Given the description of an element on the screen output the (x, y) to click on. 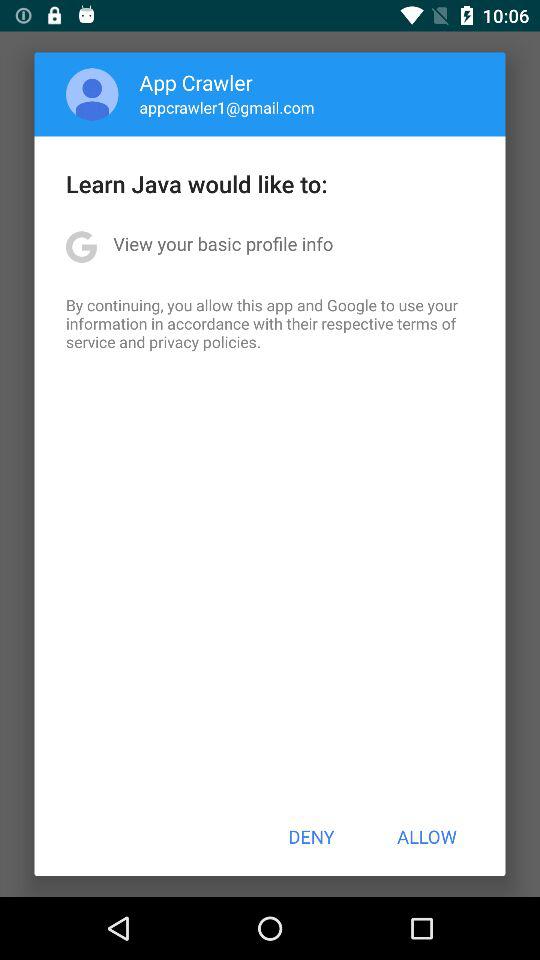
tap item at the bottom (311, 836)
